Given the description of an element on the screen output the (x, y) to click on. 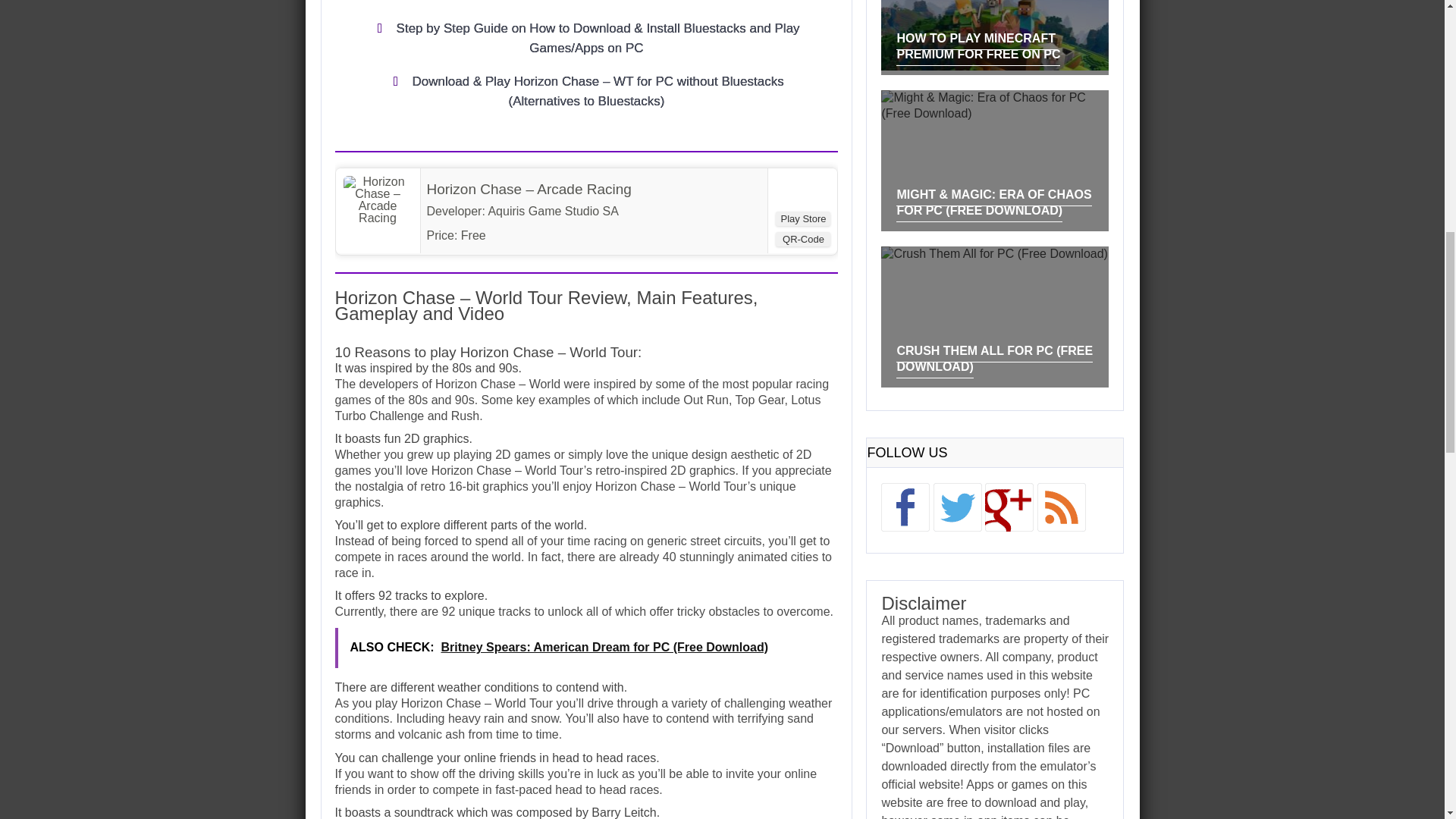
5 of 5 stars (517, 234)
Aquiris Game Studio SA (552, 210)
Play Store (802, 218)
HOW TO PLAY MINECRAFT PREMIUM FOR FREE ON PC (977, 48)
